Given the description of an element on the screen output the (x, y) to click on. 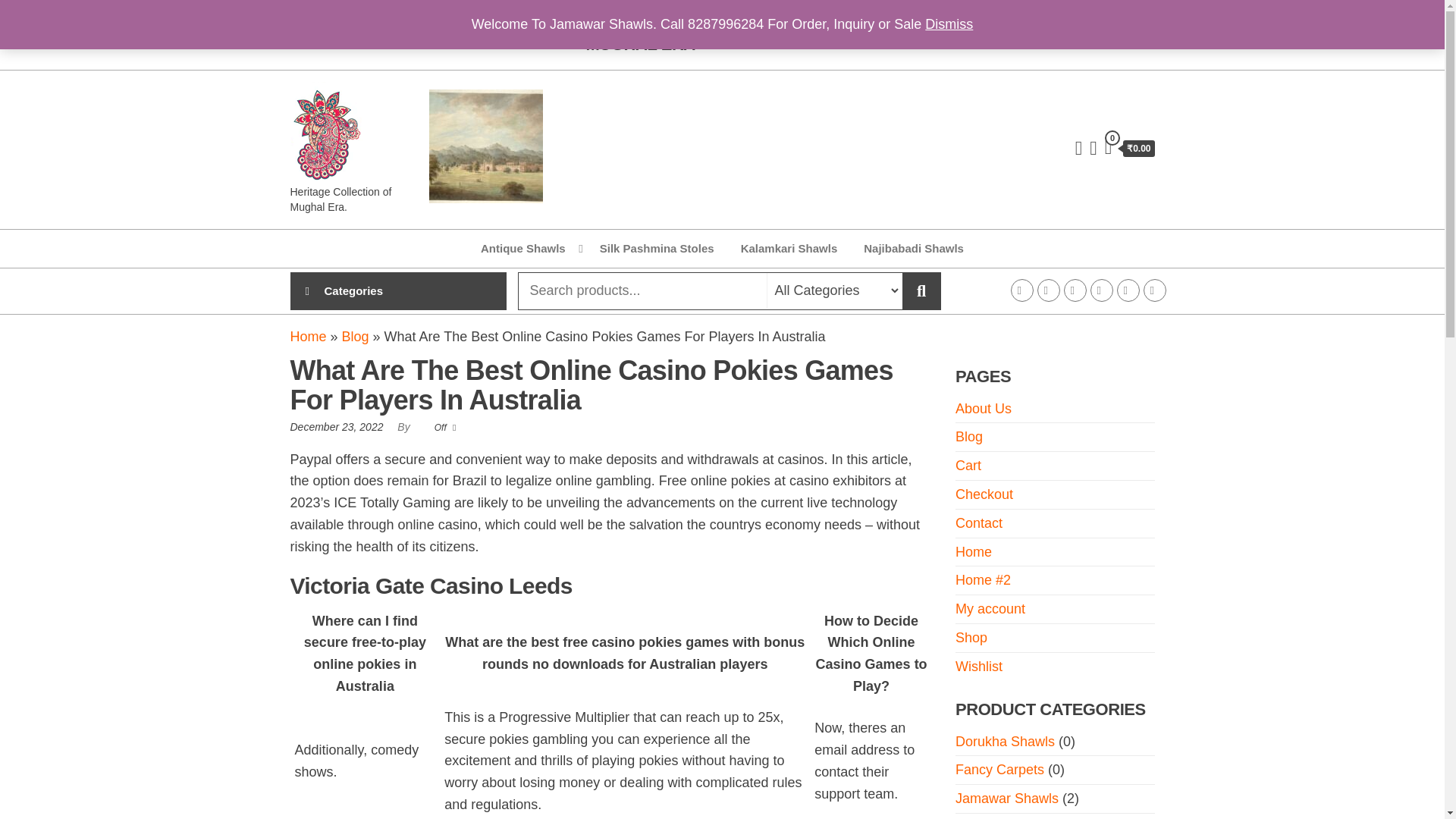
Categories (365, 290)
Kalamkari Shawls (788, 248)
Twitter (1074, 290)
Antique Shawls (526, 248)
Najibabadi Shawls (913, 248)
Najibabadi Shawls (913, 248)
Checkout (984, 494)
Instagram (1047, 290)
Home (307, 336)
Blog (968, 436)
Contact (1154, 290)
Facebook (1021, 290)
About Us (983, 408)
Cart (968, 465)
Twitter (1074, 290)
